Given the description of an element on the screen output the (x, y) to click on. 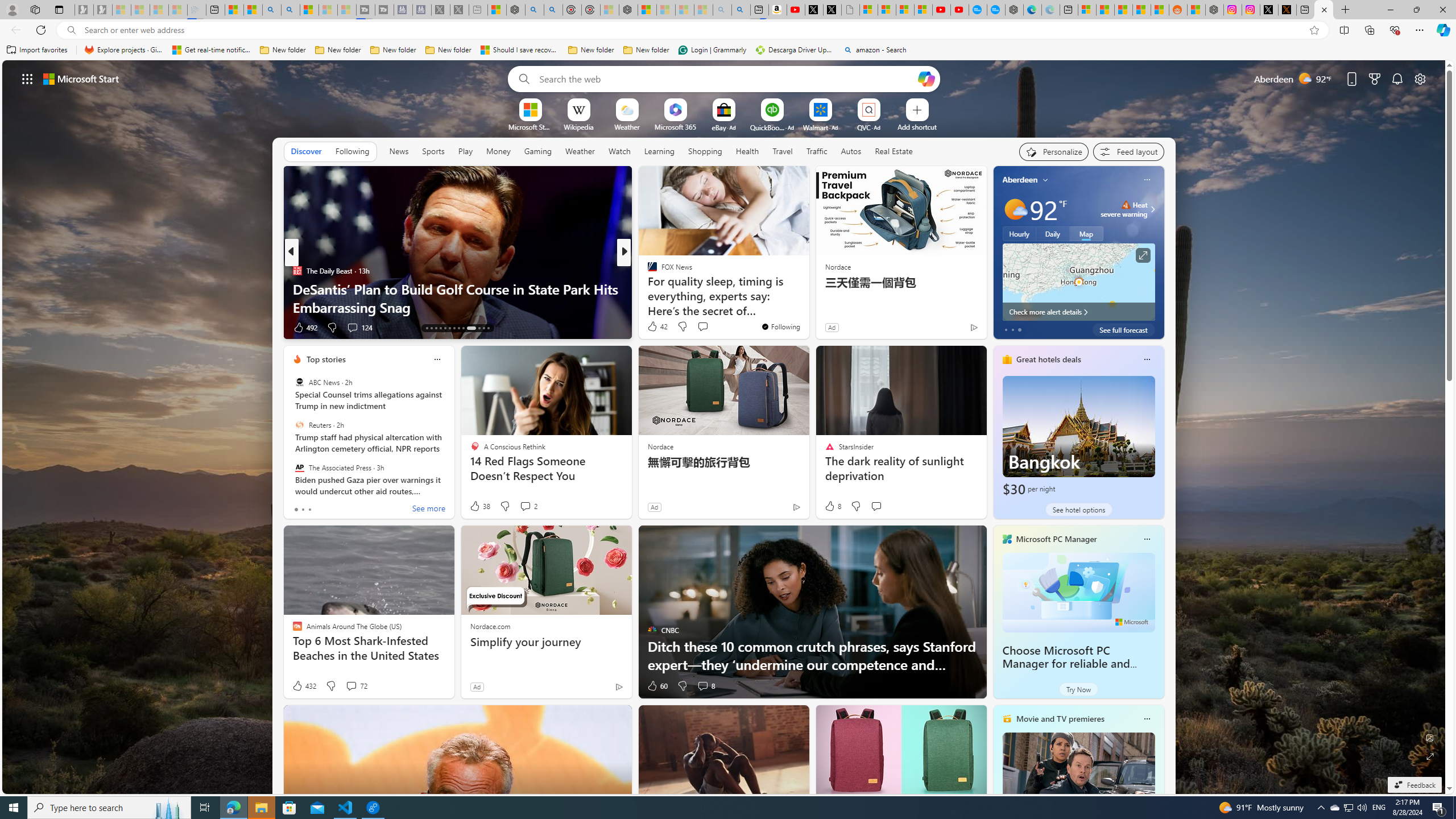
Money (497, 151)
Shopping (705, 151)
8 Like (831, 505)
Learning (659, 151)
Play (465, 151)
amazon - Search (875, 49)
Add a site (916, 126)
Amazon Echo Dot PNG - Search Images (740, 9)
YouTube Kids - An App Created for Kids to Explore Content (960, 9)
